Given the description of an element on the screen output the (x, y) to click on. 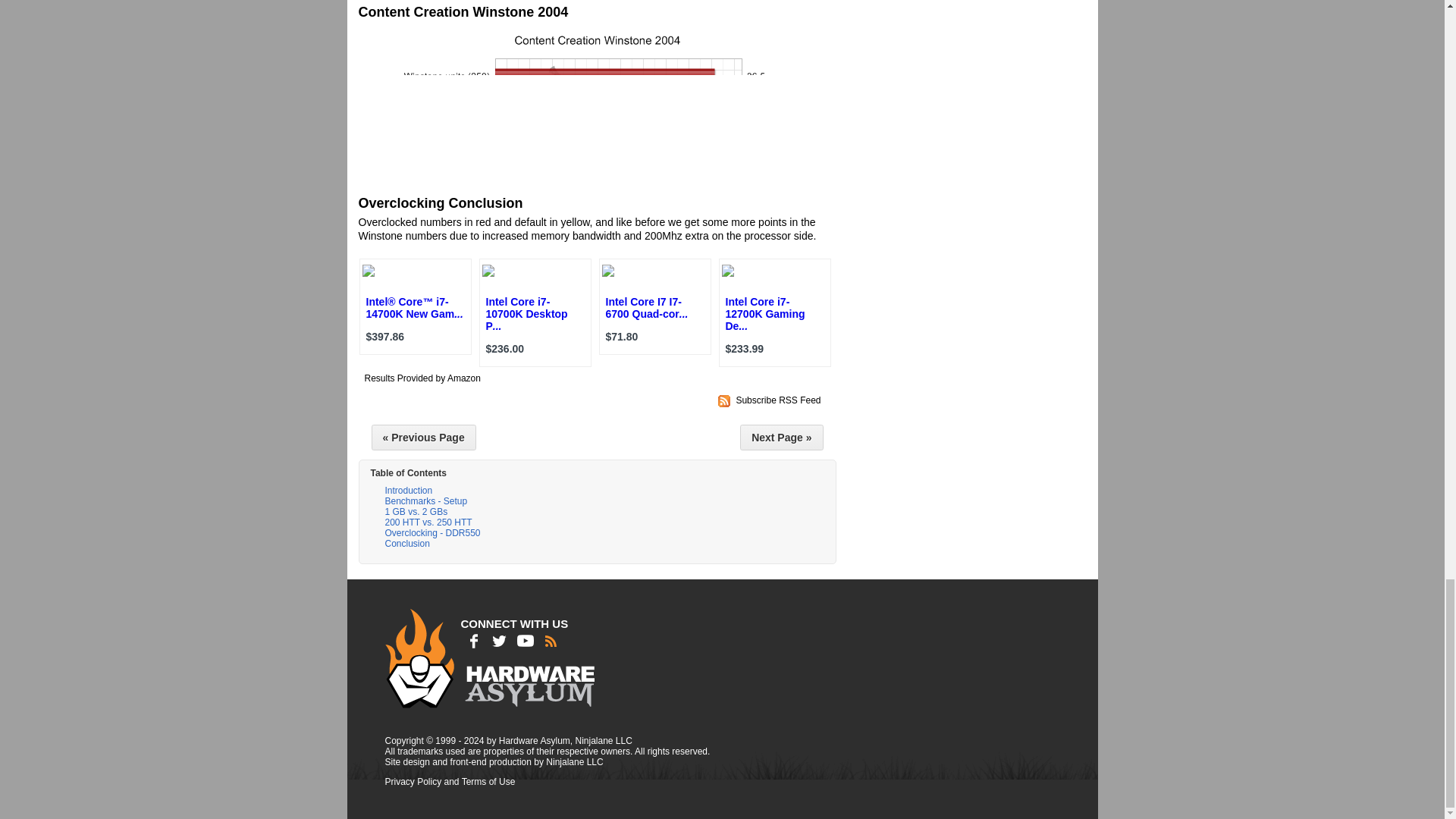
Intel Core I7 I7-6700 Quad-cor... (646, 307)
Introduction (408, 491)
Hardware Asylum RSS Feed (778, 399)
Intel Core i7-10700K Desktop P... (525, 313)
Intel Core i7-12700K Gaming De... (765, 313)
200 HTT vs. 250 HTT (428, 523)
Conclusion (406, 544)
Benchmarks - Setup (426, 502)
1 GB vs. 2 GBs (416, 512)
Subscribe RSS Feed (778, 399)
Overclocking - DDR550 (432, 534)
